Given the description of an element on the screen output the (x, y) to click on. 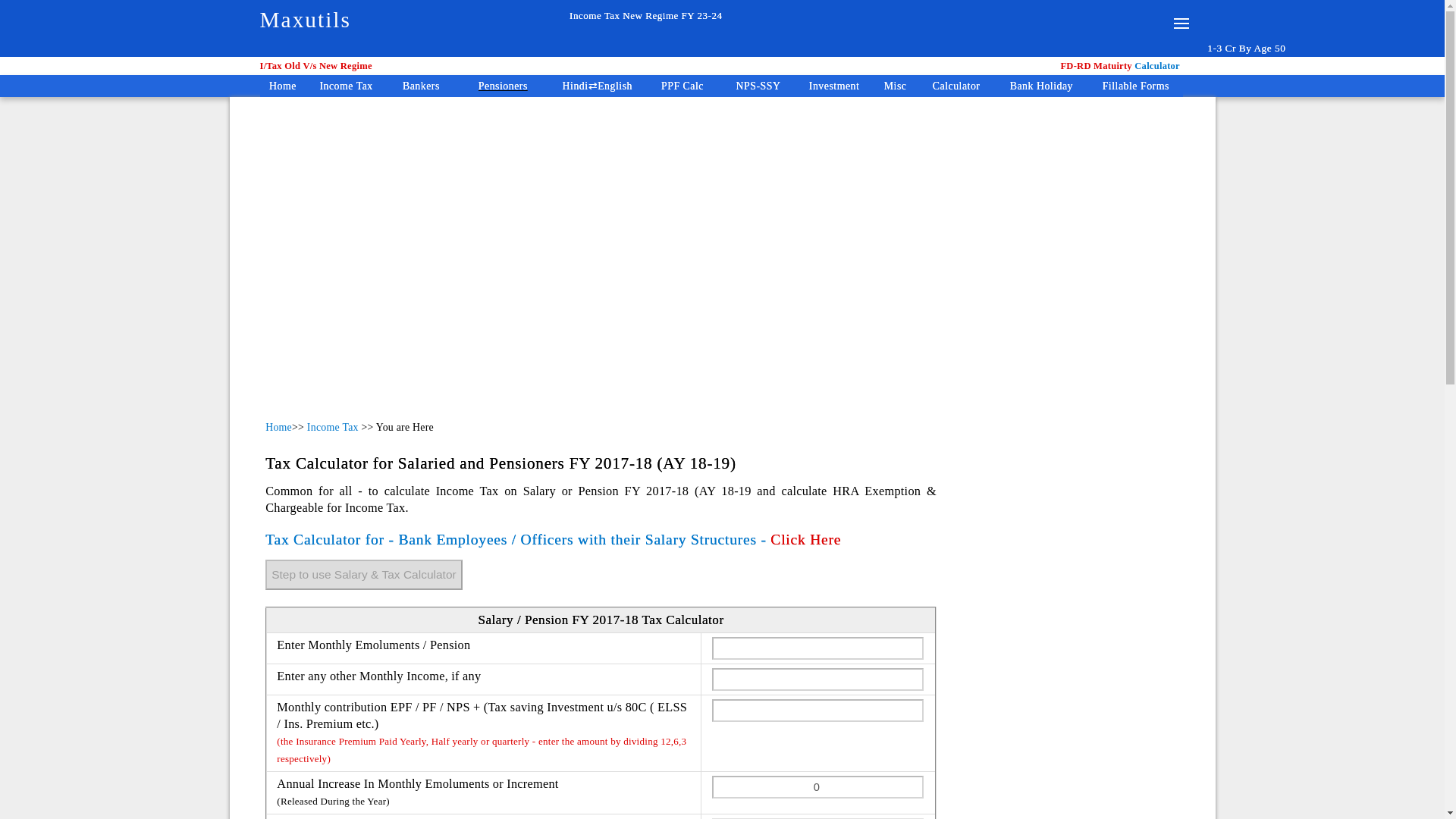
Bank Holiday (1040, 86)
PPF Calculator (682, 86)
Income Tax New Regime FY 23-24 (594, 15)
Home (278, 427)
FD-RD Matuirty Calculator   (1122, 65)
Pensioners (502, 86)
Financial Calculator and Widgets (956, 86)
Home (282, 86)
NPS-SSY (758, 86)
PPF Calc (682, 86)
Income Tax (332, 427)
Home Page (282, 86)
Maxutils (304, 19)
Bankers (422, 86)
Learning Tools (597, 86)
